Given the description of an element on the screen output the (x, y) to click on. 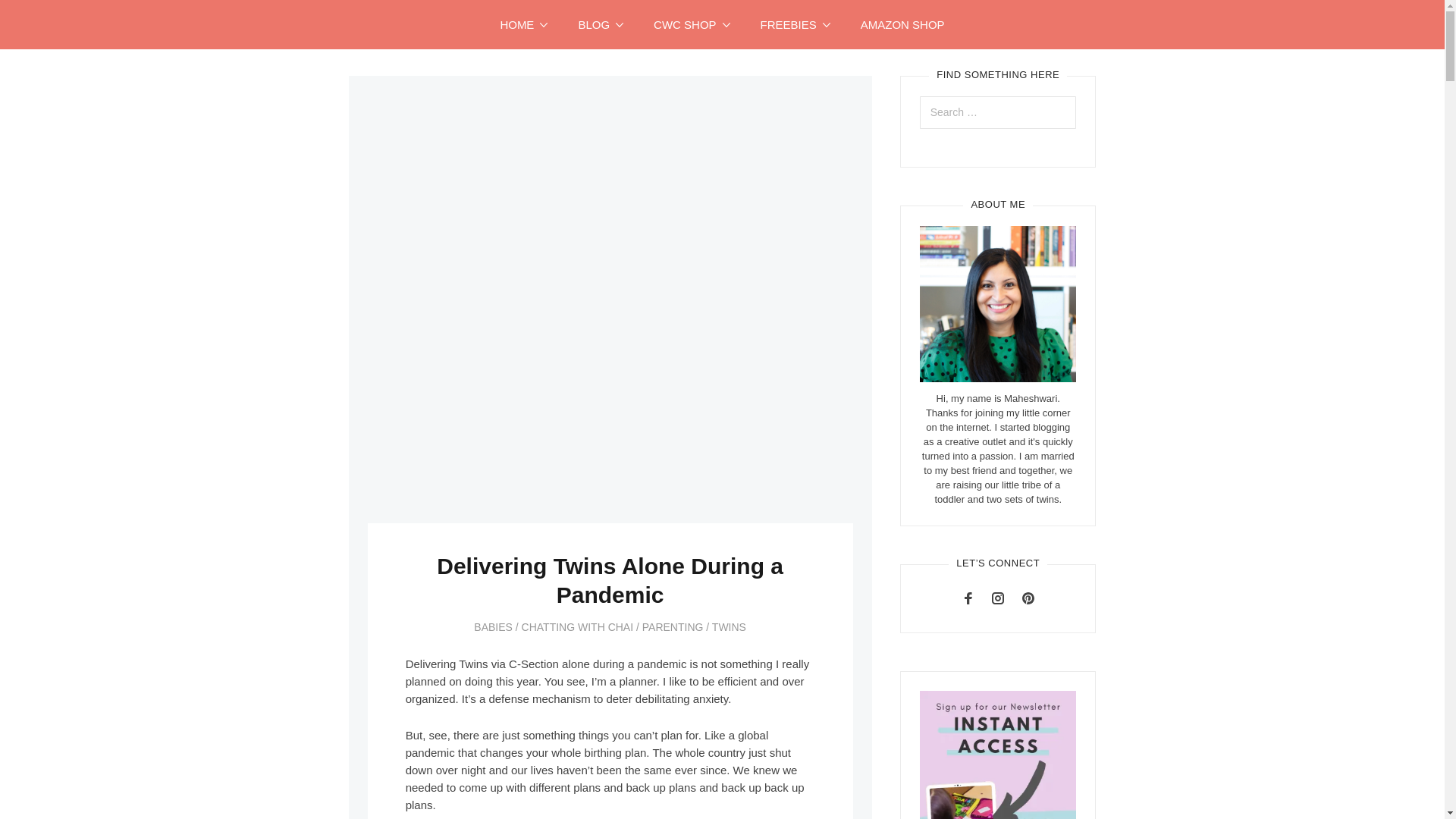
BLOG (600, 24)
CHATTING WITH CHAI (577, 626)
PARENTING (672, 626)
FREEBIES (795, 24)
AMAZON SHOP (902, 24)
BABIES (493, 626)
HOME (523, 24)
CWC SHOP (692, 24)
TWINS (728, 626)
